Given the description of an element on the screen output the (x, y) to click on. 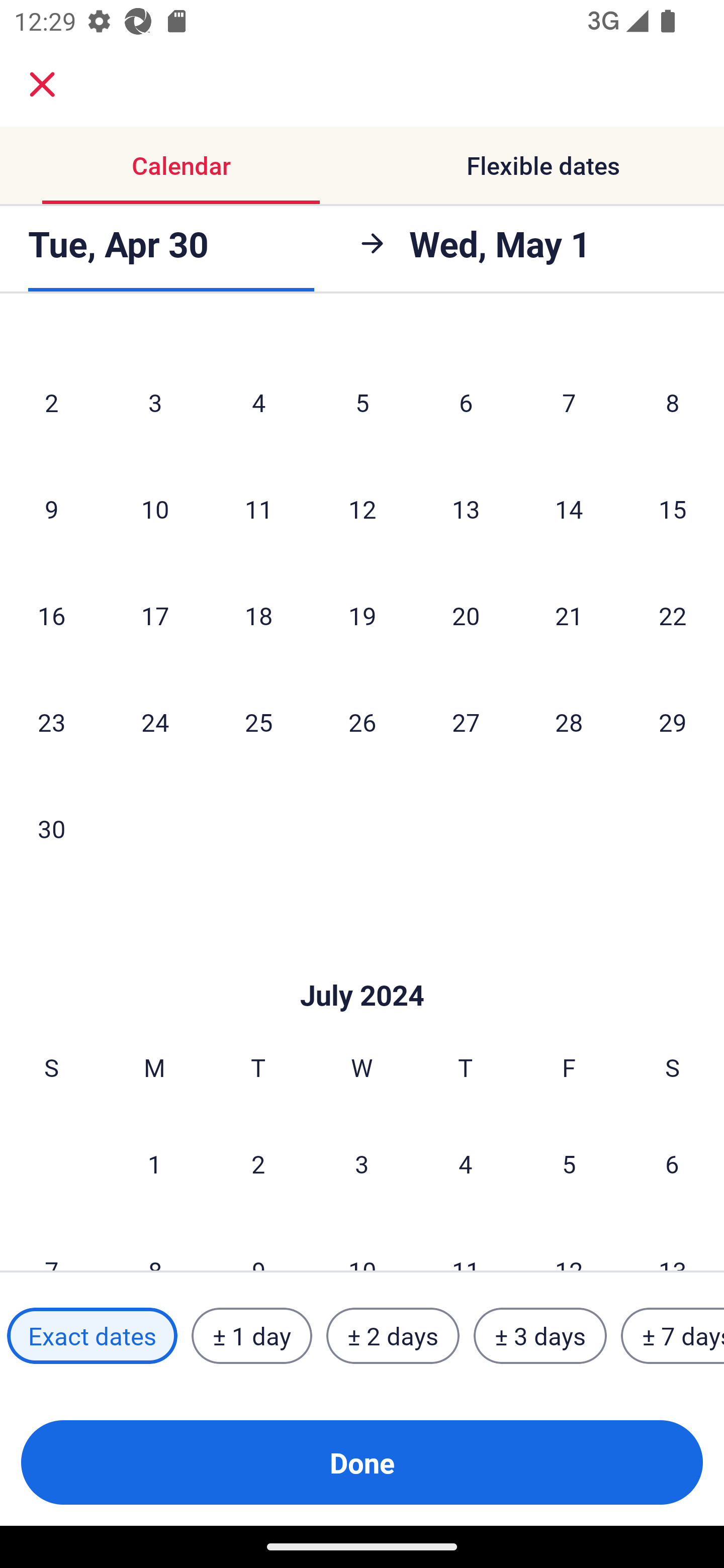
close. (42, 84)
Flexible dates (542, 164)
2 Sunday, June 2, 2024 (51, 402)
3 Monday, June 3, 2024 (155, 402)
4 Tuesday, June 4, 2024 (258, 402)
5 Wednesday, June 5, 2024 (362, 402)
6 Thursday, June 6, 2024 (465, 402)
7 Friday, June 7, 2024 (569, 402)
8 Saturday, June 8, 2024 (672, 402)
9 Sunday, June 9, 2024 (51, 508)
10 Monday, June 10, 2024 (155, 508)
11 Tuesday, June 11, 2024 (258, 508)
12 Wednesday, June 12, 2024 (362, 508)
13 Thursday, June 13, 2024 (465, 508)
14 Friday, June 14, 2024 (569, 508)
15 Saturday, June 15, 2024 (672, 508)
16 Sunday, June 16, 2024 (51, 615)
17 Monday, June 17, 2024 (155, 615)
18 Tuesday, June 18, 2024 (258, 615)
19 Wednesday, June 19, 2024 (362, 615)
20 Thursday, June 20, 2024 (465, 615)
21 Friday, June 21, 2024 (569, 615)
22 Saturday, June 22, 2024 (672, 615)
23 Sunday, June 23, 2024 (51, 722)
24 Monday, June 24, 2024 (155, 722)
25 Tuesday, June 25, 2024 (258, 722)
26 Wednesday, June 26, 2024 (362, 722)
27 Thursday, June 27, 2024 (465, 722)
28 Friday, June 28, 2024 (569, 722)
29 Saturday, June 29, 2024 (672, 722)
30 Sunday, June 30, 2024 (51, 828)
Skip to Done (362, 965)
1 Monday, July 1, 2024 (154, 1163)
2 Tuesday, July 2, 2024 (257, 1163)
3 Wednesday, July 3, 2024 (361, 1163)
4 Thursday, July 4, 2024 (465, 1163)
5 Friday, July 5, 2024 (568, 1163)
6 Saturday, July 6, 2024 (672, 1163)
Exact dates (92, 1335)
± 1 day (251, 1335)
± 2 days (392, 1335)
± 3 days (539, 1335)
± 7 days (672, 1335)
Done (361, 1462)
